Given the description of an element on the screen output the (x, y) to click on. 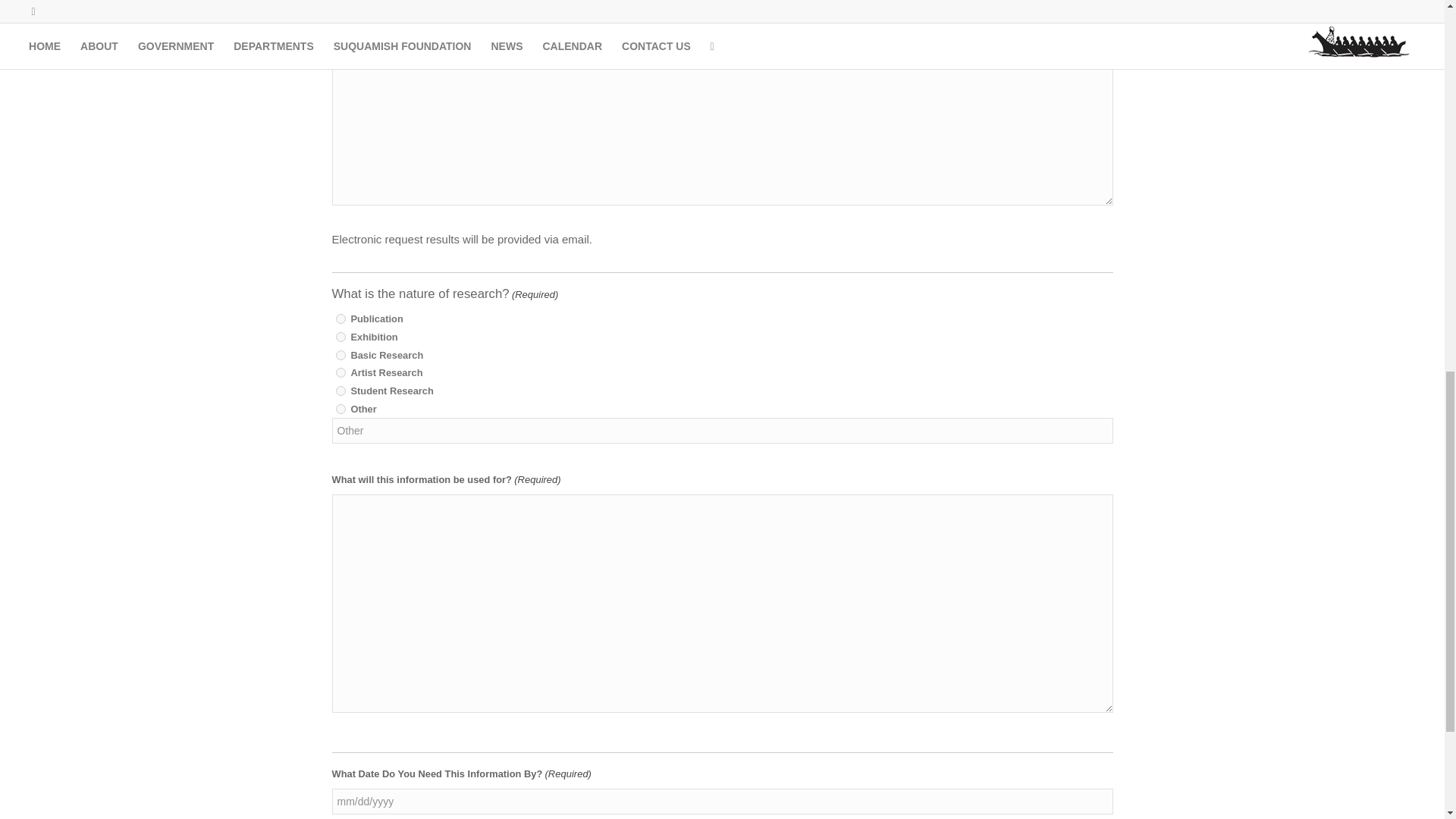
Publication (339, 318)
Artist Research (339, 372)
Exhibition (339, 337)
Basic Research (339, 355)
